Given the description of an element on the screen output the (x, y) to click on. 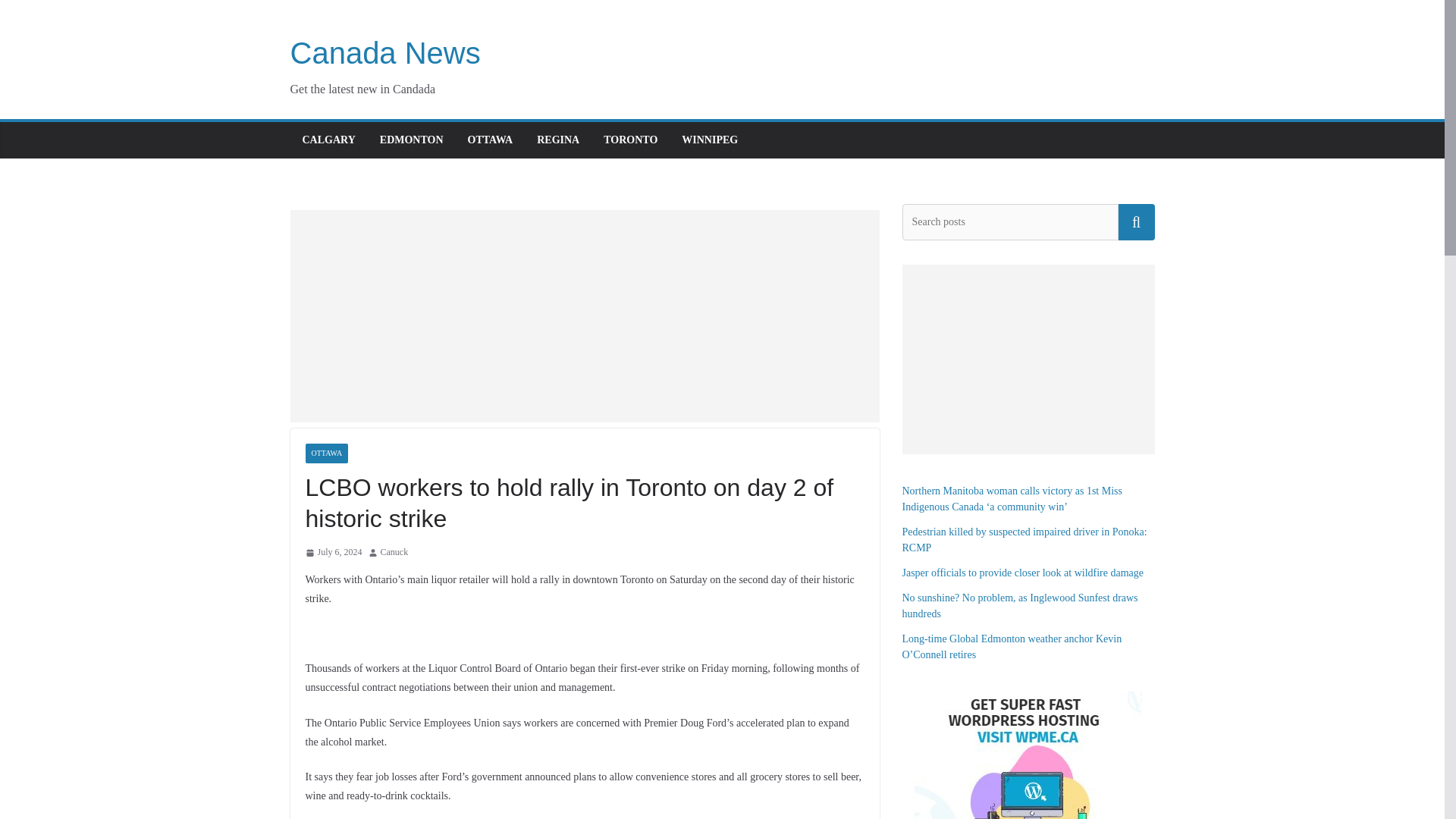
WINNIPEG (709, 139)
Advertisement (584, 315)
July 6, 2024 (332, 552)
EDMONTON (412, 139)
Canada News (384, 52)
Canada News (384, 52)
TORONTO (631, 139)
10:48 am (332, 552)
OTTAWA (490, 139)
Canuck (394, 552)
CALGARY (328, 139)
OTTAWA (325, 453)
REGINA (558, 139)
Canuck (394, 552)
